Given the description of an element on the screen output the (x, y) to click on. 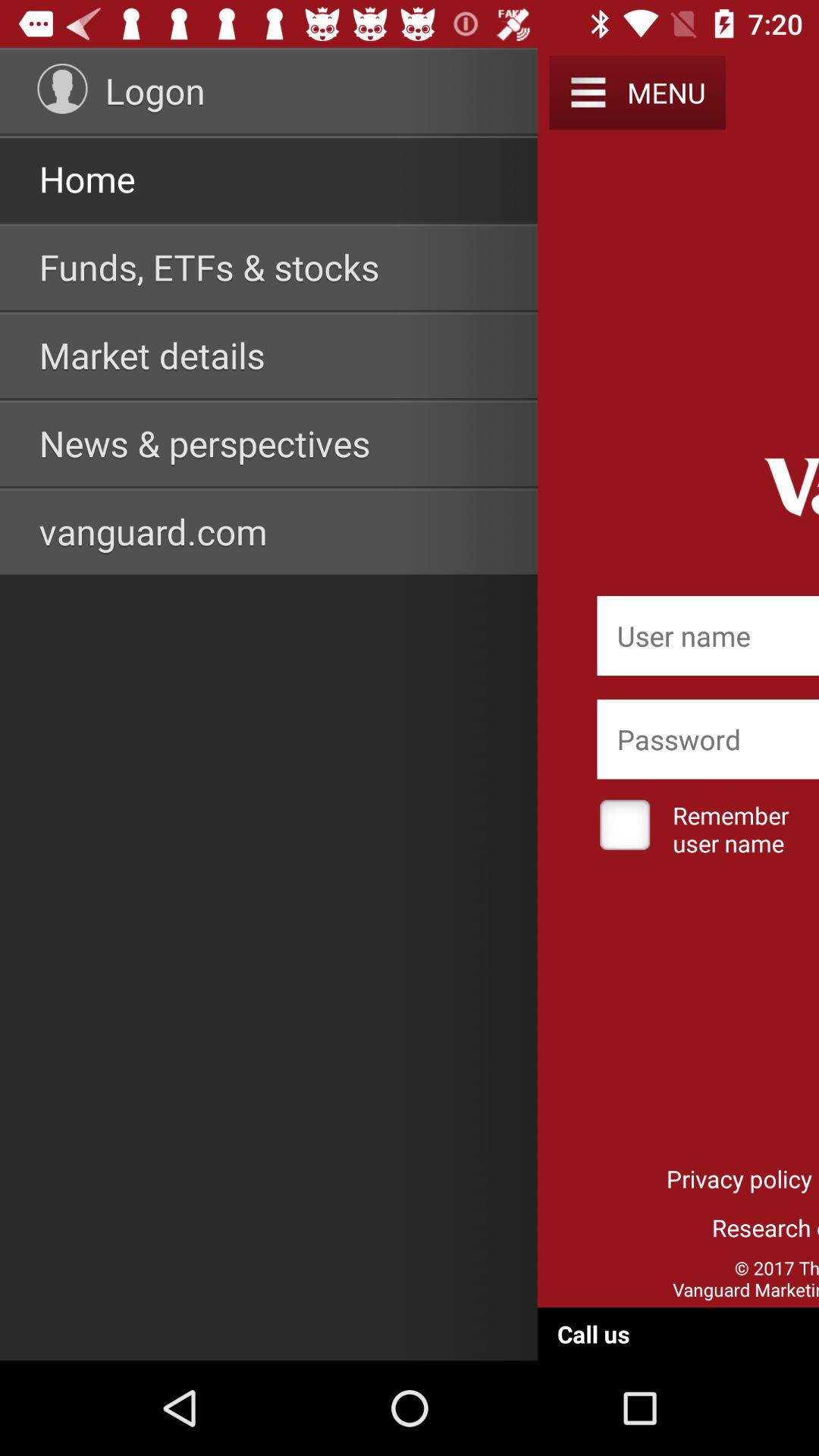
scroll to the research our firm icon (708, 1227)
